Given the description of an element on the screen output the (x, y) to click on. 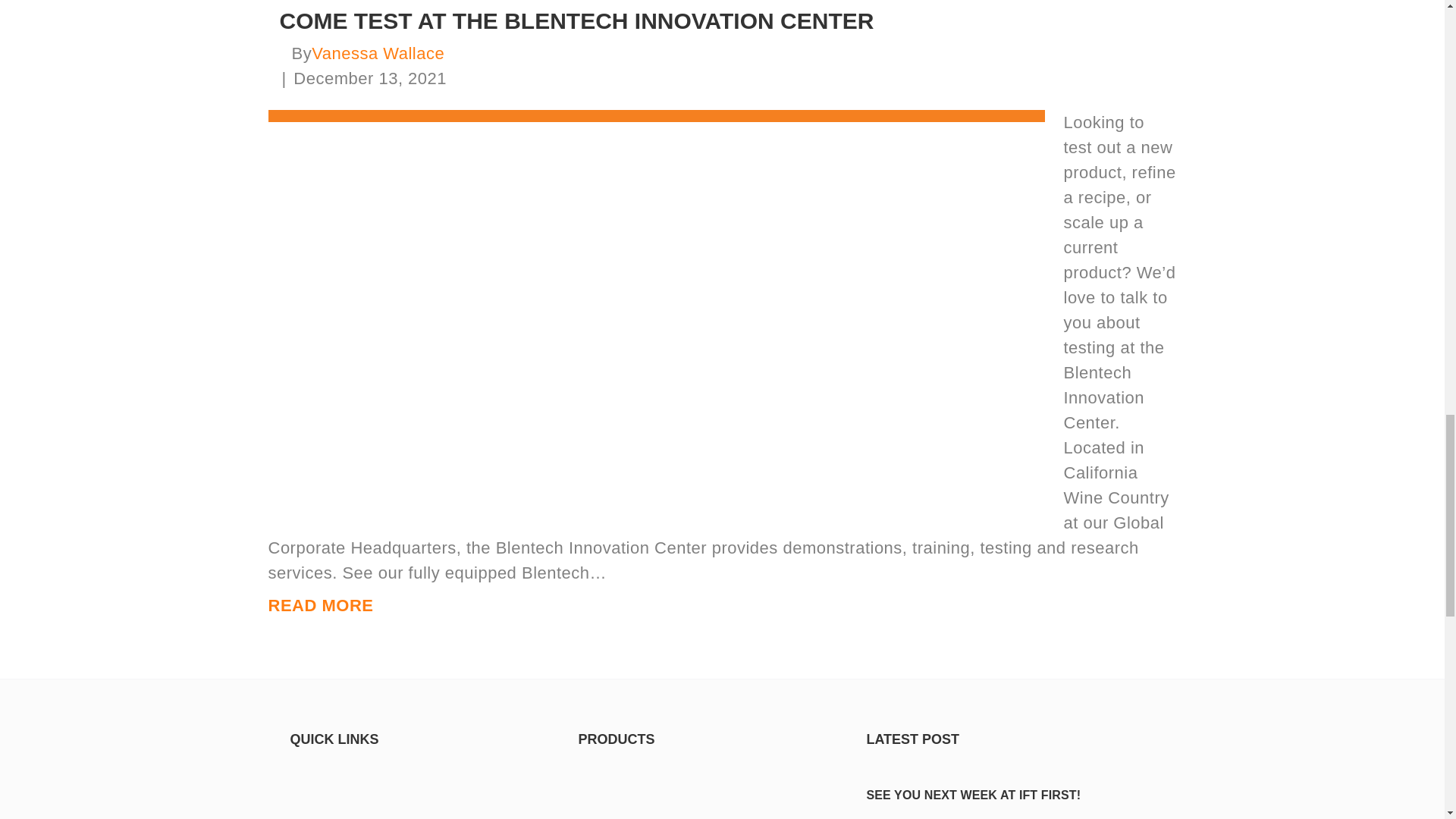
Come test at the Blentech Innovation Center (576, 20)
See You Next Week at IFT First! (1010, 763)
See You Next Week at IFT First! (973, 794)
Come test at the Blentech Innovation Center (656, 311)
